Given the description of an element on the screen output the (x, y) to click on. 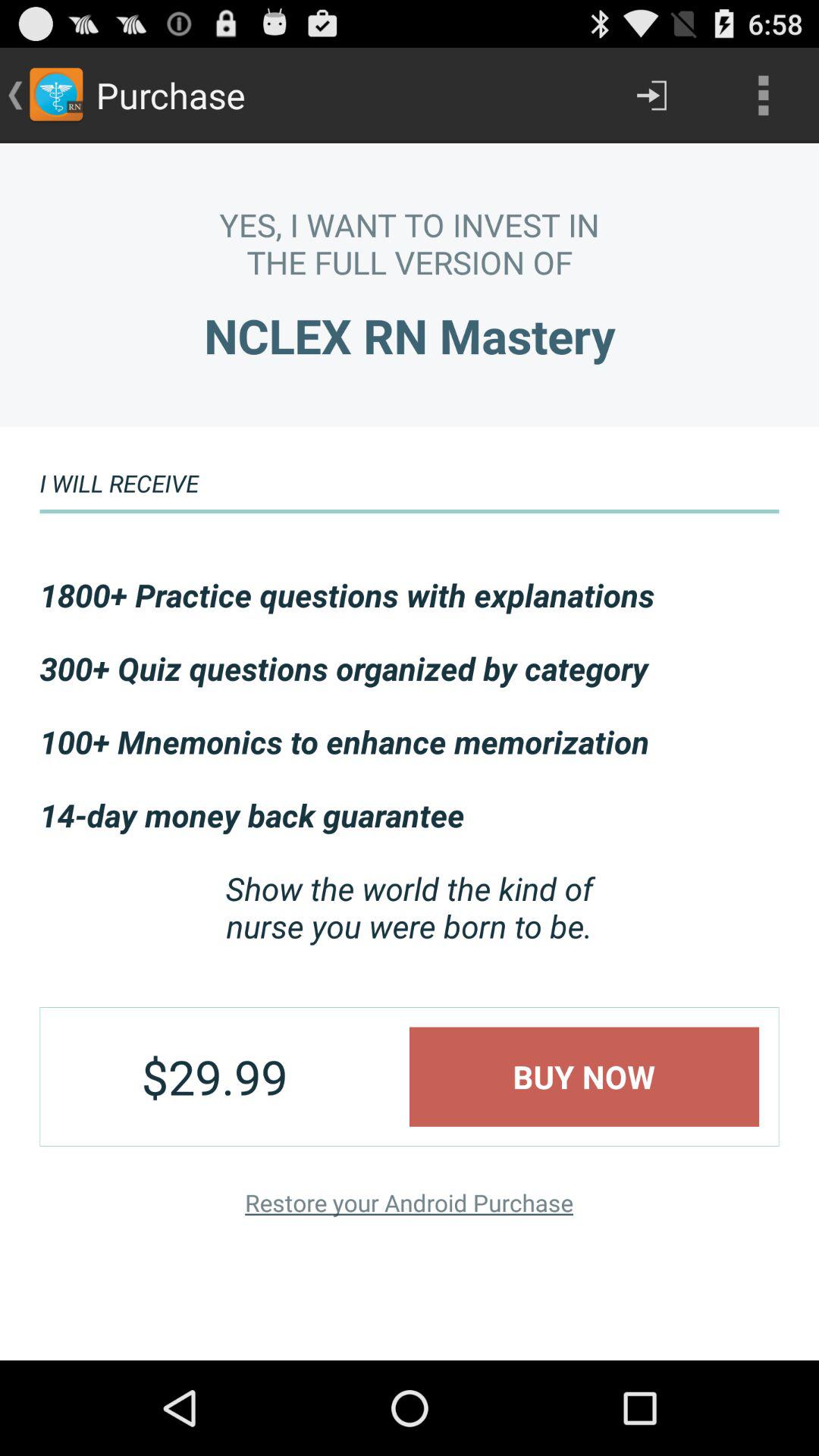
tap item to the right of purchase item (651, 95)
